Given the description of an element on the screen output the (x, y) to click on. 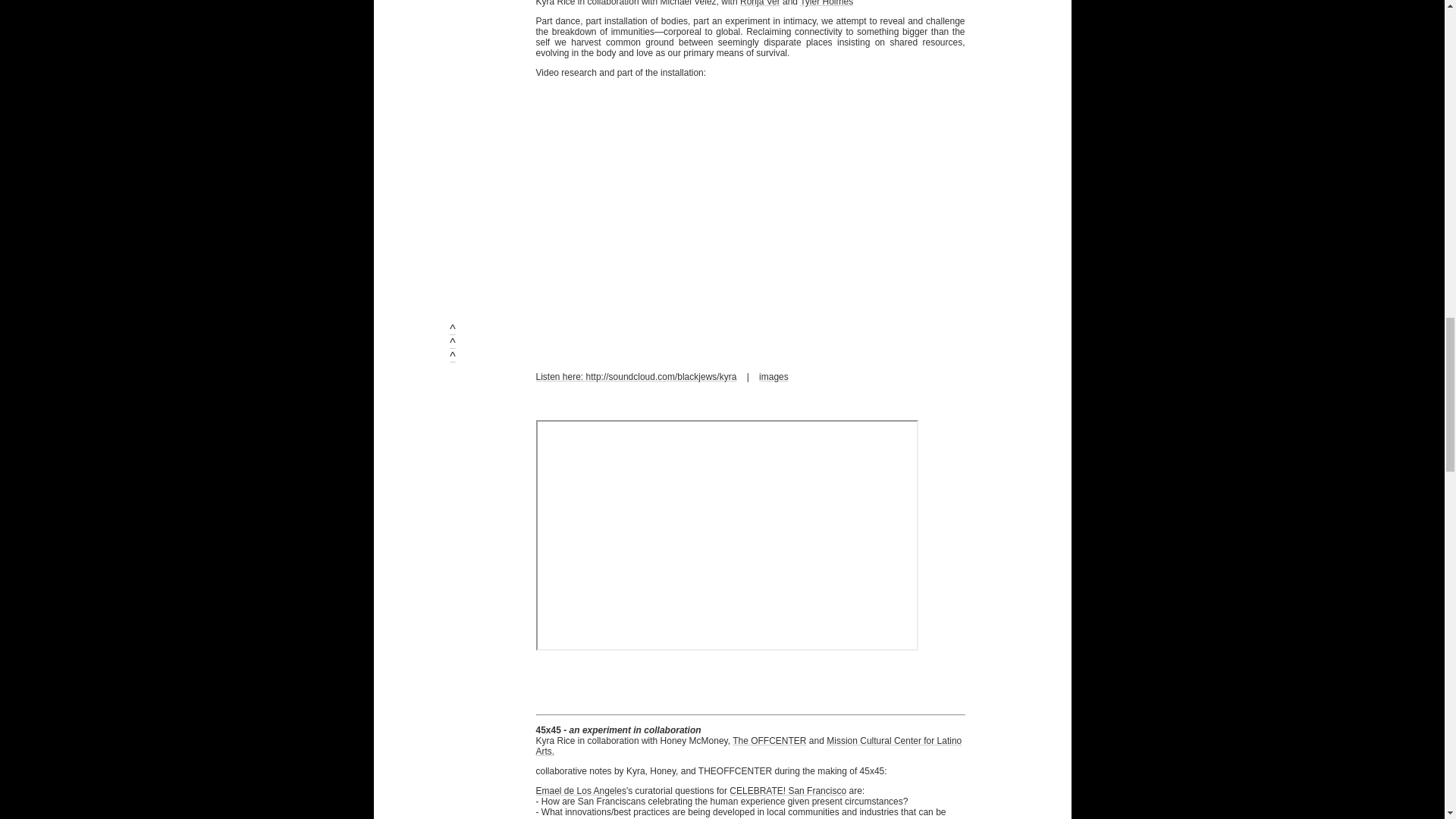
images (773, 376)
The OFFCENTER (769, 740)
CELEBRATE! San Francisco (787, 790)
Emael de Los Angeles (580, 790)
Tyler Holmes (826, 3)
Ronja Ver (759, 3)
Mission Cultural Center for Latino Arts. (747, 745)
